Given the description of an element on the screen output the (x, y) to click on. 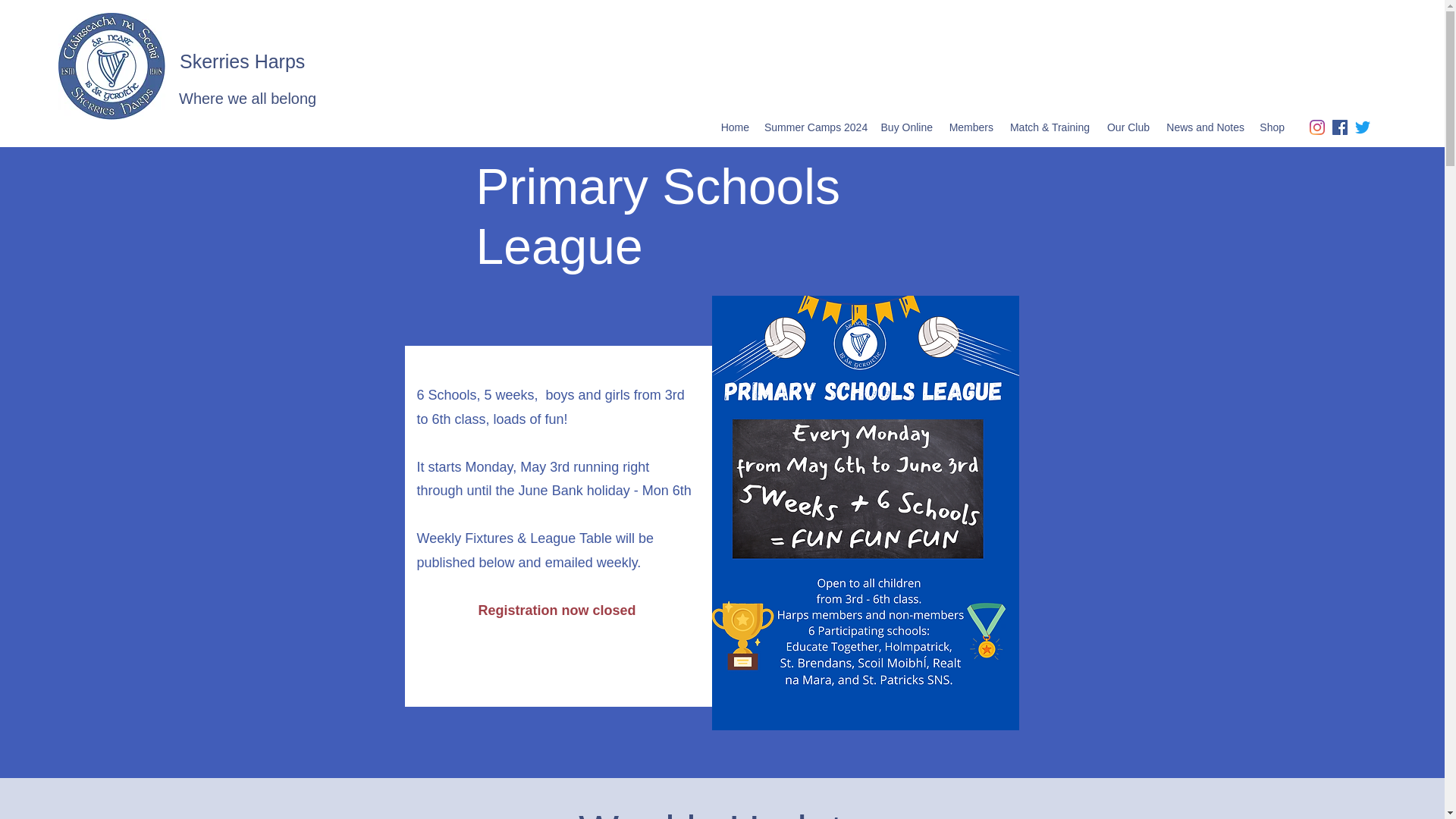
Summer Camps 2024 (814, 127)
Where we all belong (247, 98)
Home (735, 127)
Shop (1272, 127)
Skerries Harps (241, 61)
Our Club (1127, 127)
